Given the description of an element on the screen output the (x, y) to click on. 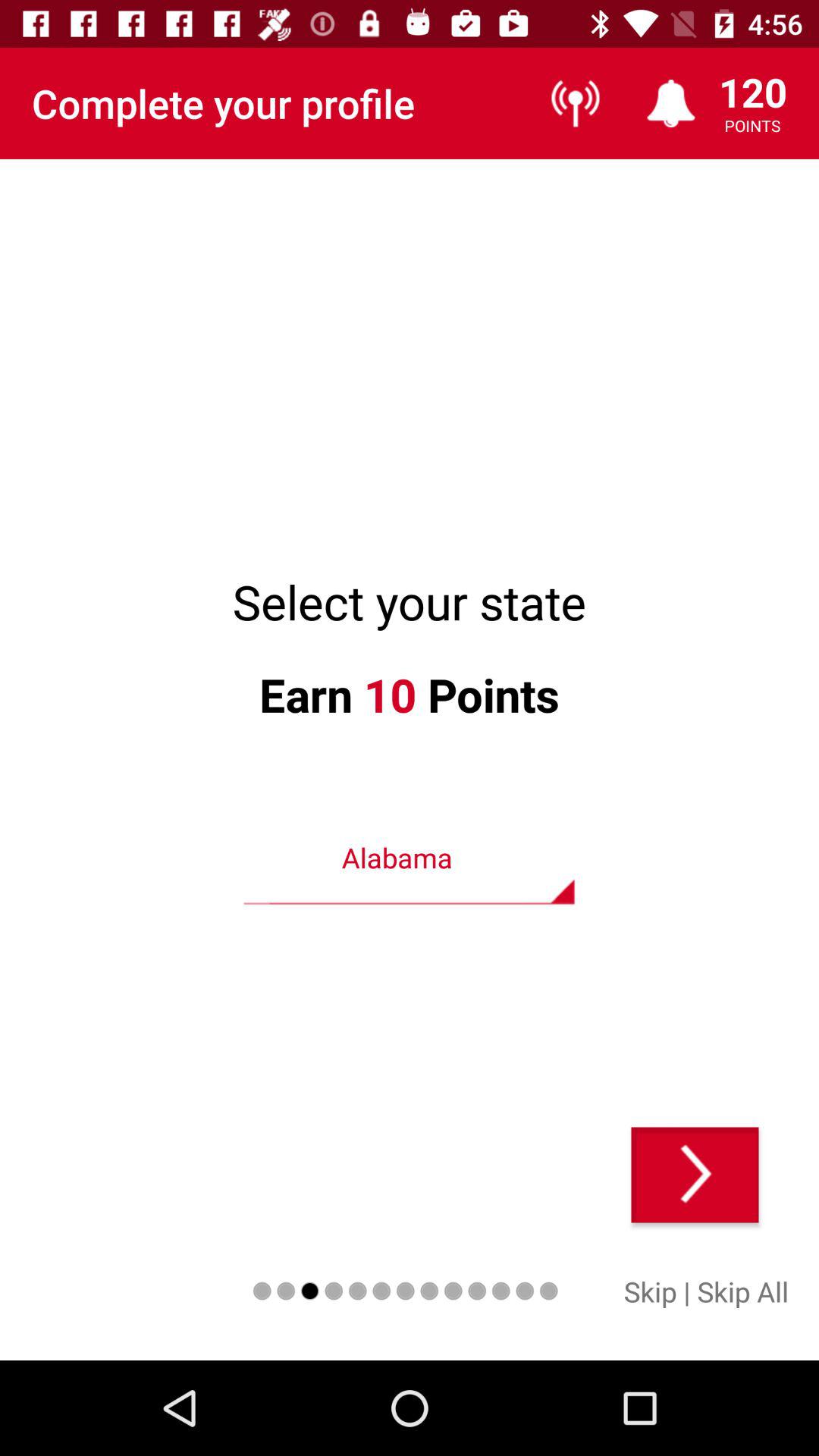
tap item next to  |  icon (742, 1291)
